Given the description of an element on the screen output the (x, y) to click on. 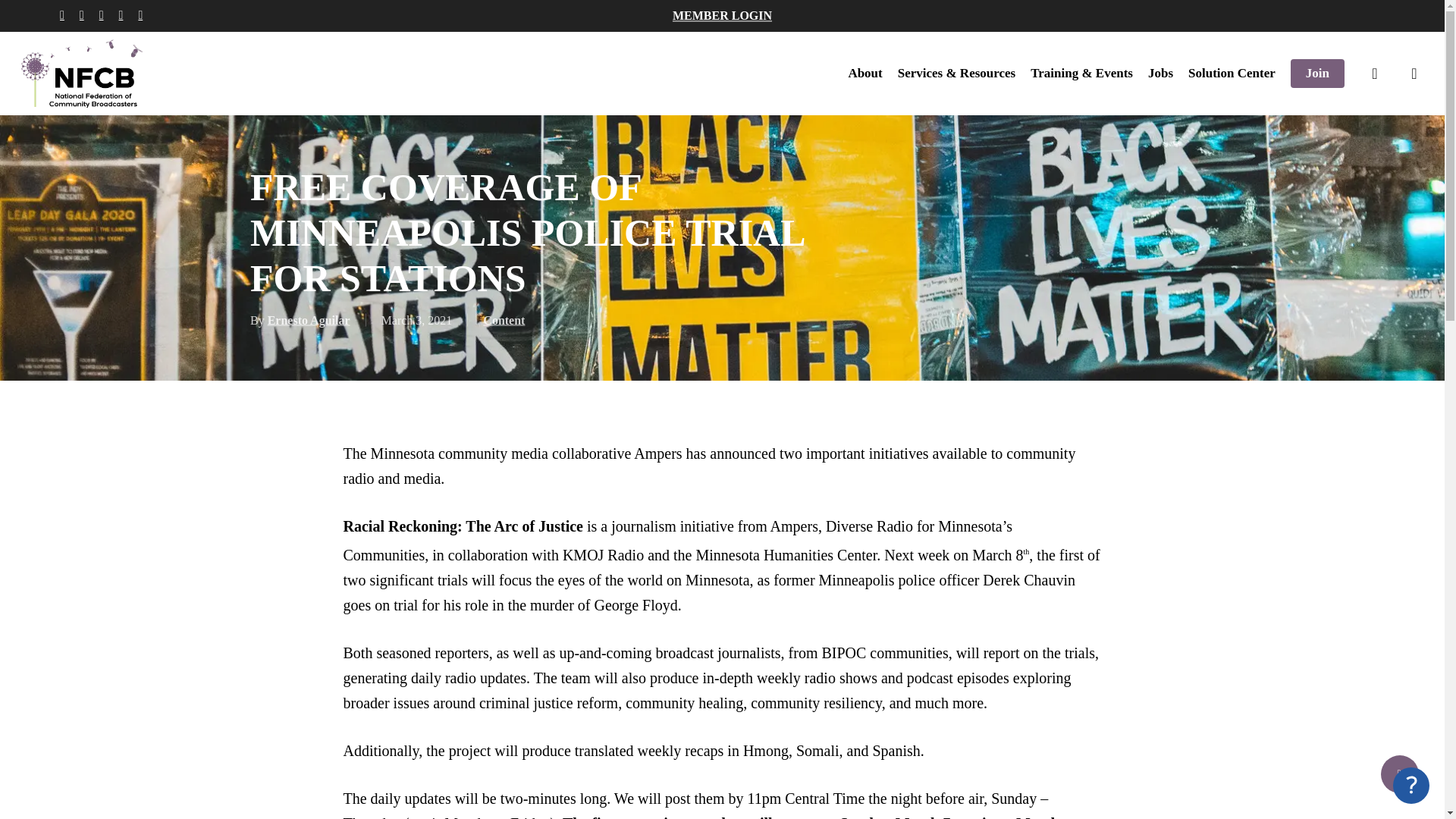
MEMBER LOGIN (721, 15)
Solution Center (1231, 73)
account (1414, 73)
Join (1316, 73)
Posts by Ernesto Aguilar (308, 319)
Jobs (1160, 73)
About (864, 73)
search (1374, 73)
